Given the description of an element on the screen output the (x, y) to click on. 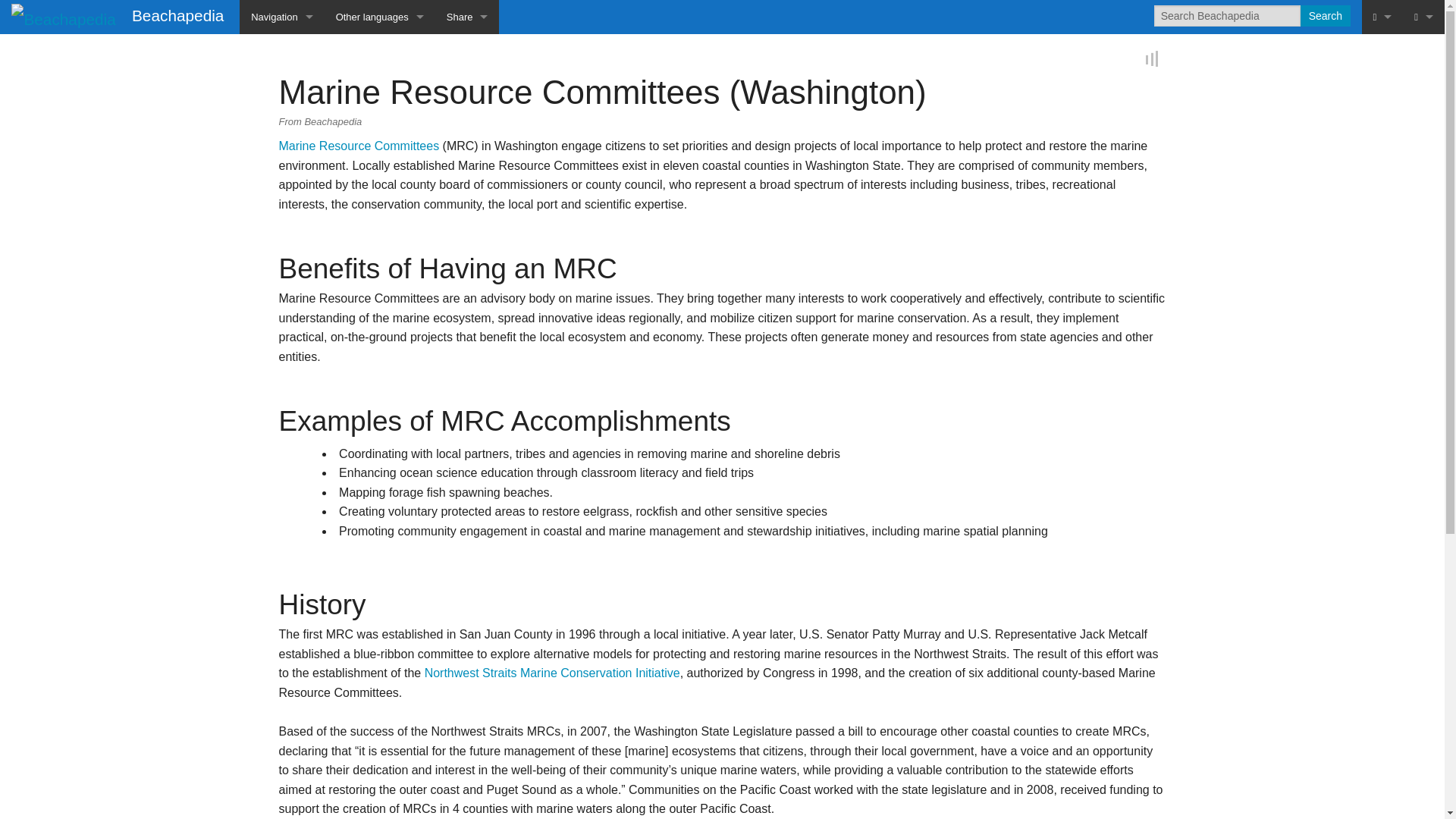
Random page (281, 153)
Recent changes (1382, 324)
Browse properties (1382, 289)
Share (467, 17)
Page information (1382, 221)
Search (1324, 15)
Printable version (1382, 153)
Svenska (379, 324)
Permanent link to this revision of the page (1382, 187)
Other languages (379, 17)
